Given the description of an element on the screen output the (x, y) to click on. 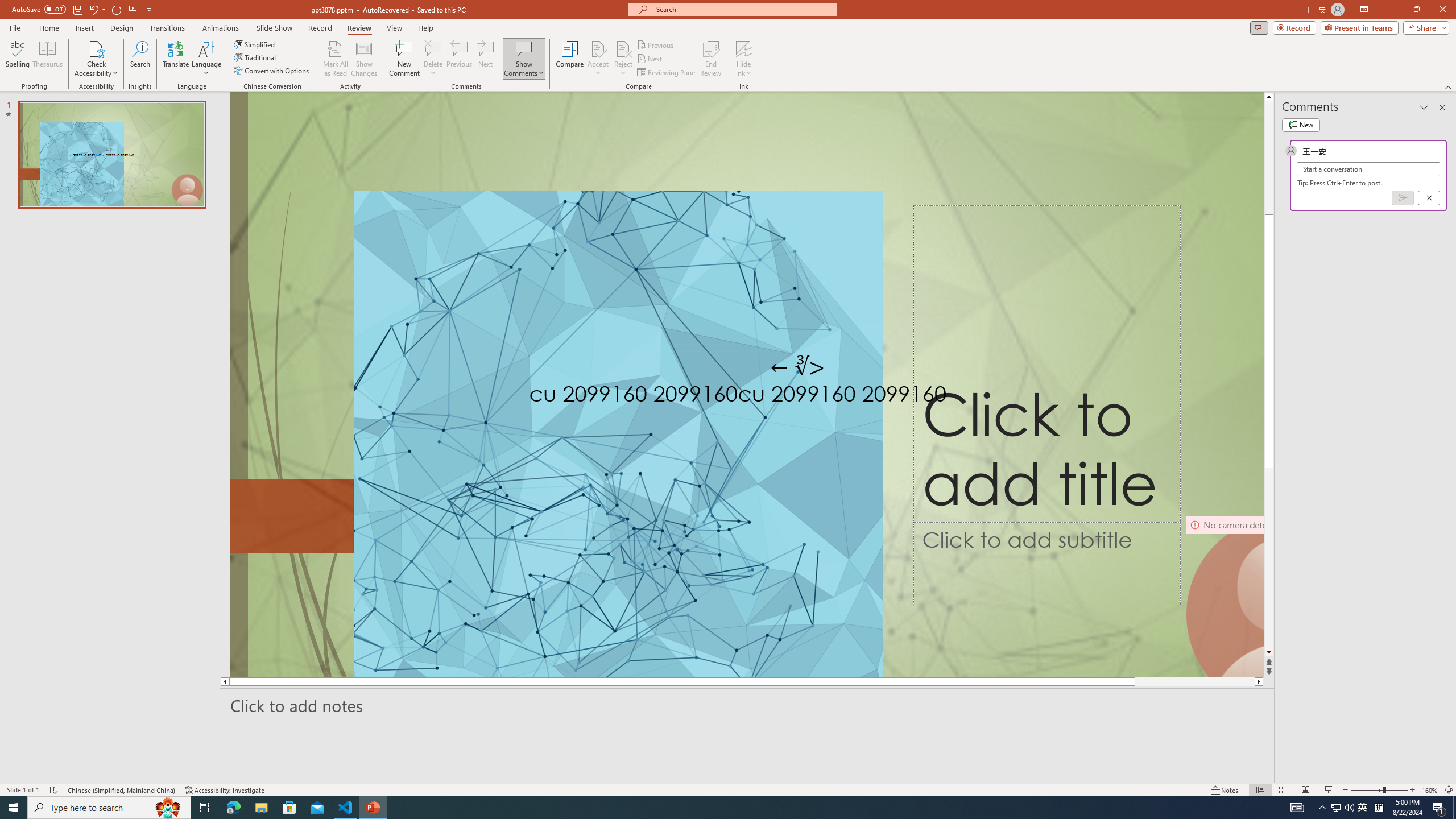
Show Changes (363, 58)
Hide Ink (743, 48)
Translate (175, 58)
TextBox 61 (807, 396)
Post comment (Ctrl + Enter) (1402, 197)
Start a conversation (1368, 168)
Reviewing Pane (666, 72)
Simplified (254, 44)
Mark All as Read (335, 58)
Check Accessibility (95, 58)
Language (206, 58)
